Given the description of an element on the screen output the (x, y) to click on. 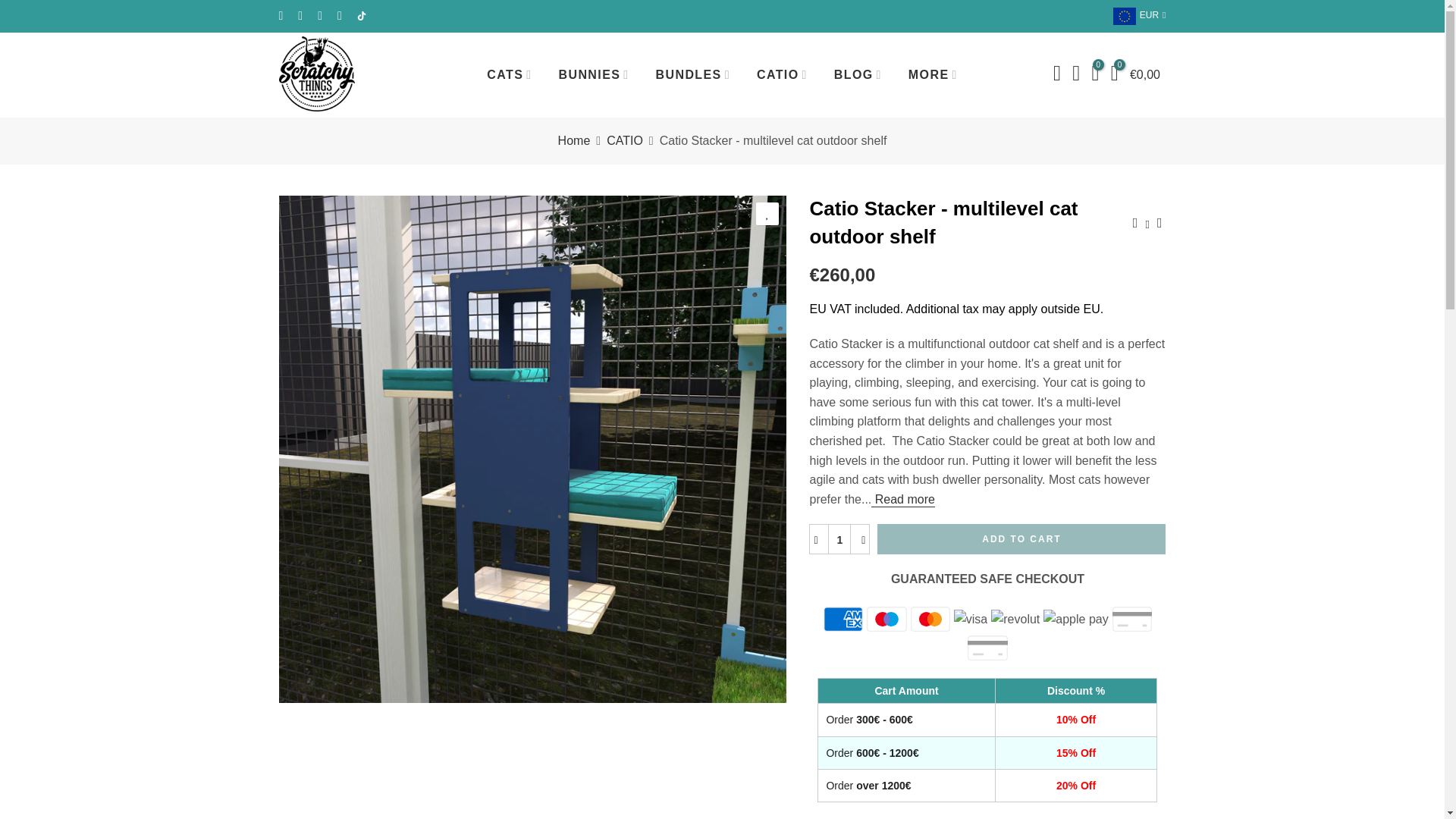
CATS (509, 74)
